Given the description of an element on the screen output the (x, y) to click on. 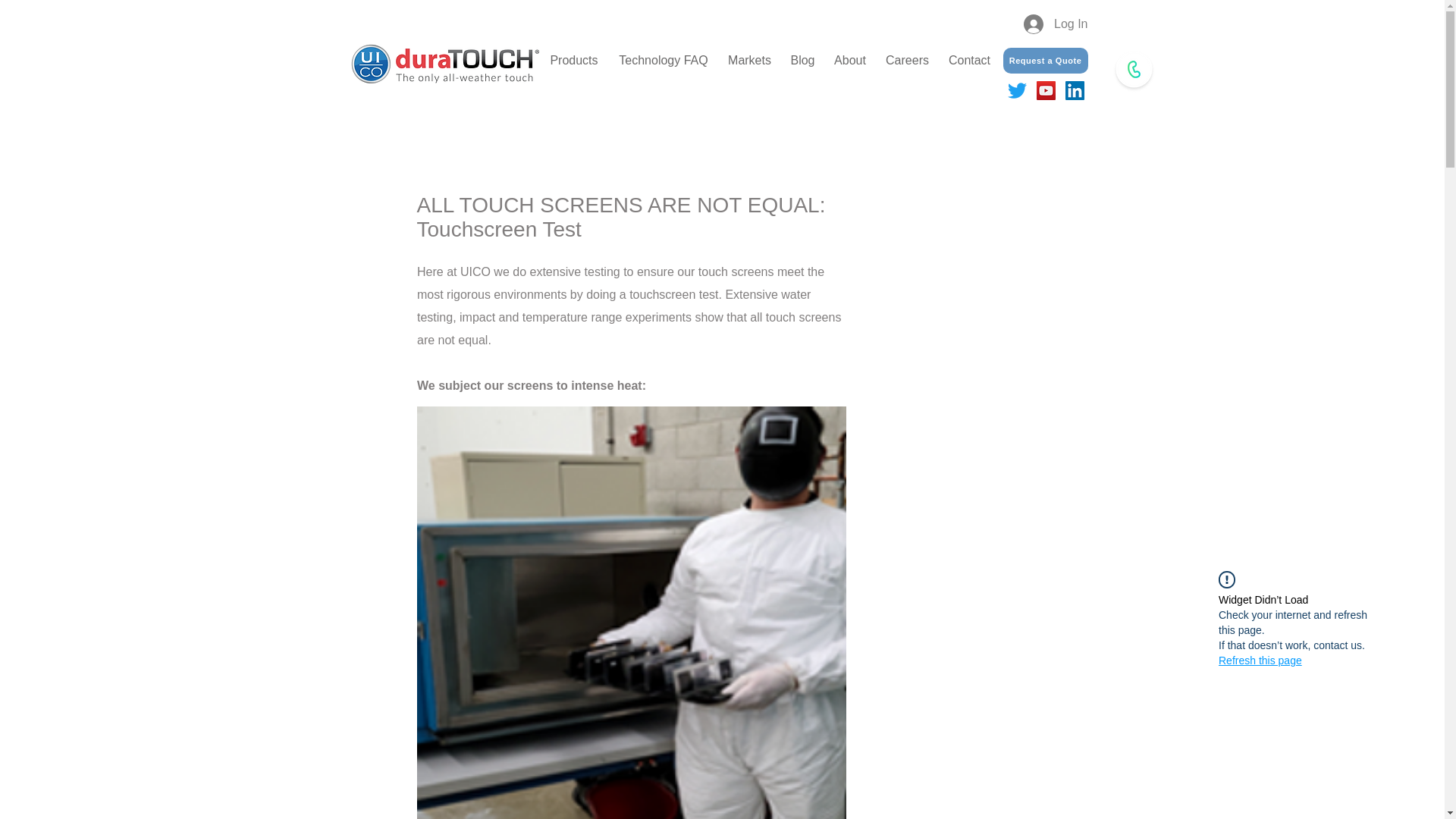
Technology FAQ (663, 60)
Embedded Content (717, 29)
Products (573, 60)
Call Now (1133, 68)
Markets (748, 60)
